Given the description of an element on the screen output the (x, y) to click on. 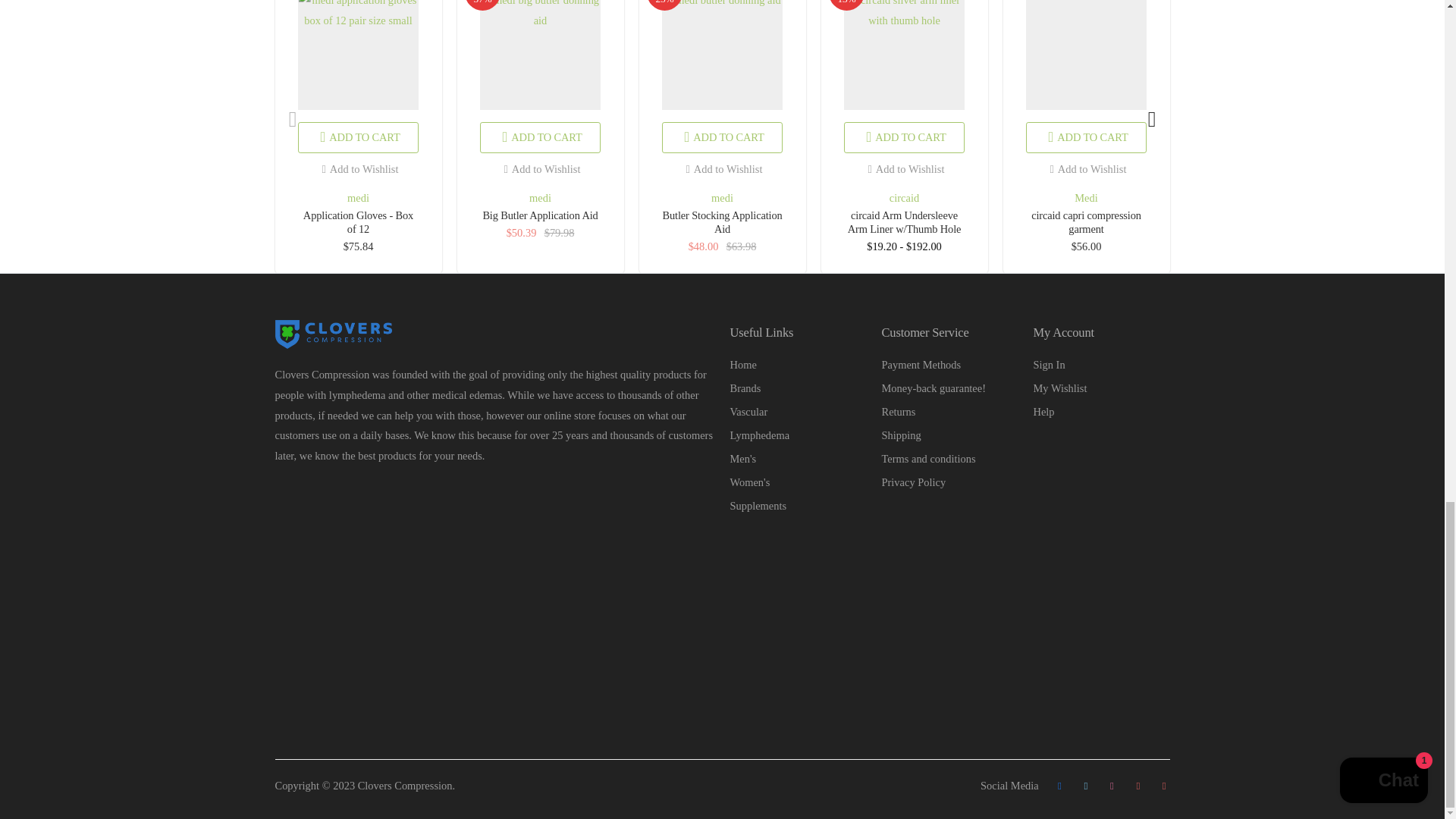
1 (986, 283)
